Given the description of an element on the screen output the (x, y) to click on. 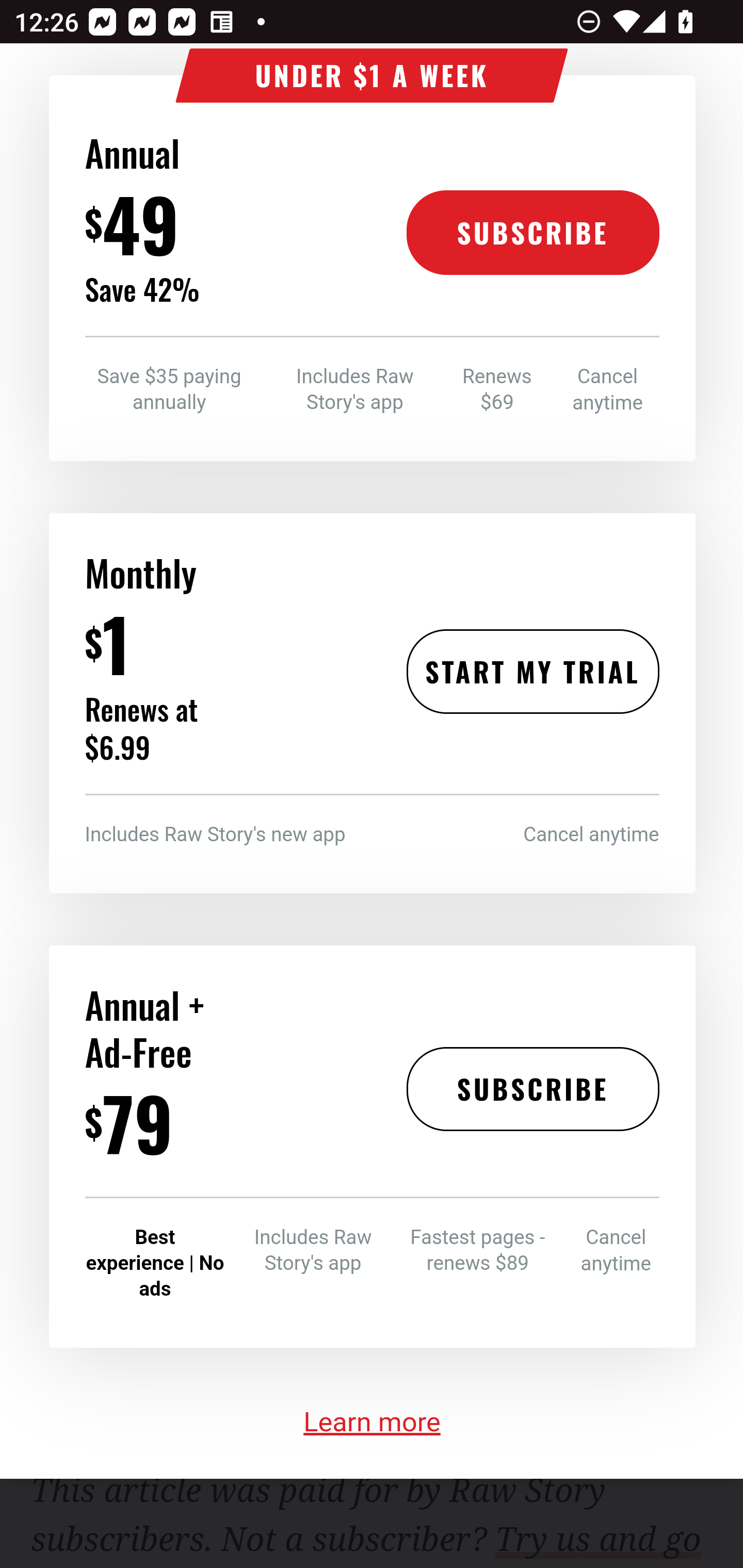
SUBSCRIBE (532, 234)
START MY TRIAL (532, 673)
SUBSCRIBE (532, 1090)
Learn more (372, 1422)
